Given the description of an element on the screen output the (x, y) to click on. 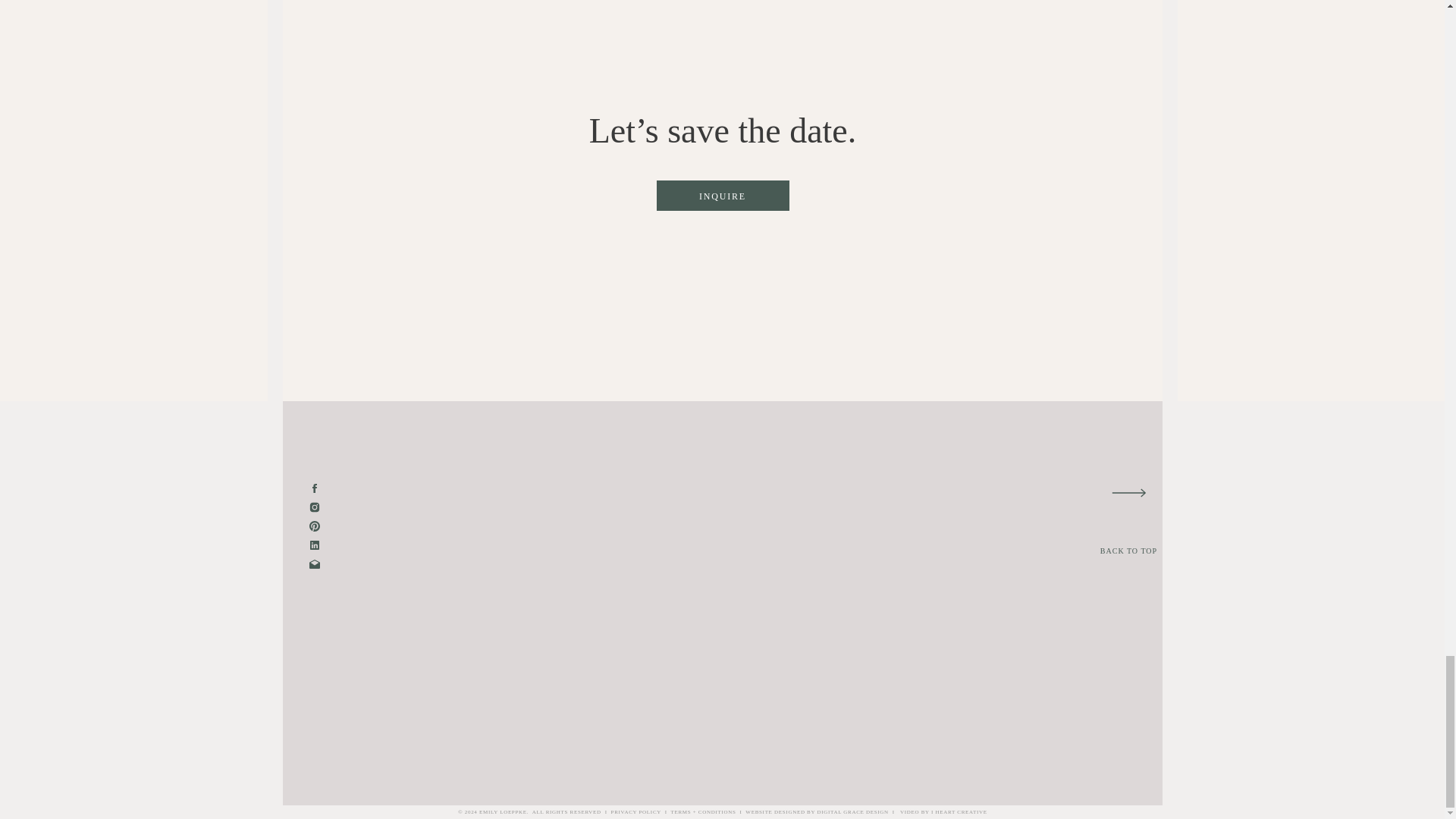
PRIVACY POLICY (636, 811)
BACK TO TOP (1128, 549)
INQUIRE (721, 196)
I HEART CREATIVE (959, 811)
WEBSITE DESIGNED BY DIGITAL GRACE DESIGN (816, 811)
